Given the description of an element on the screen output the (x, y) to click on. 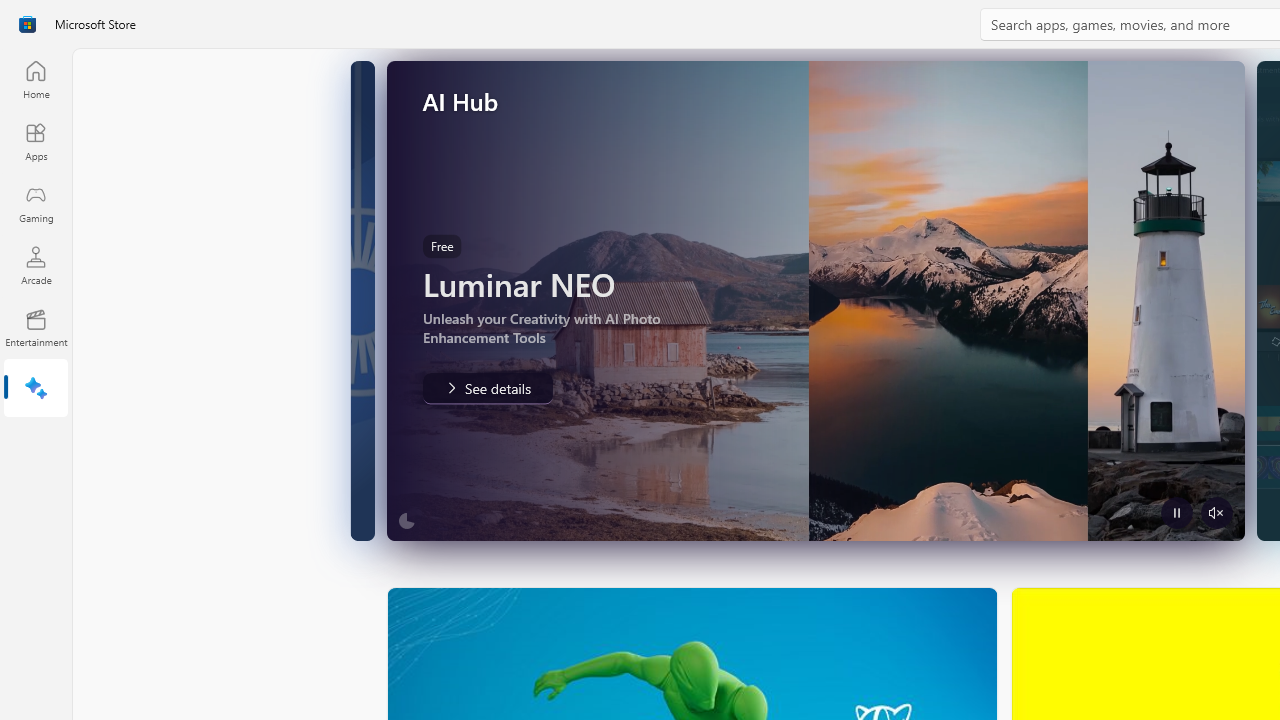
Home (35, 79)
AutomationID: Image (815, 300)
Gaming (35, 203)
AI Hub (35, 390)
Class: Image (27, 24)
Unmute (1215, 512)
Arcade (35, 265)
Entertainment (35, 327)
Pause Trailer (1175, 512)
